Given the description of an element on the screen output the (x, y) to click on. 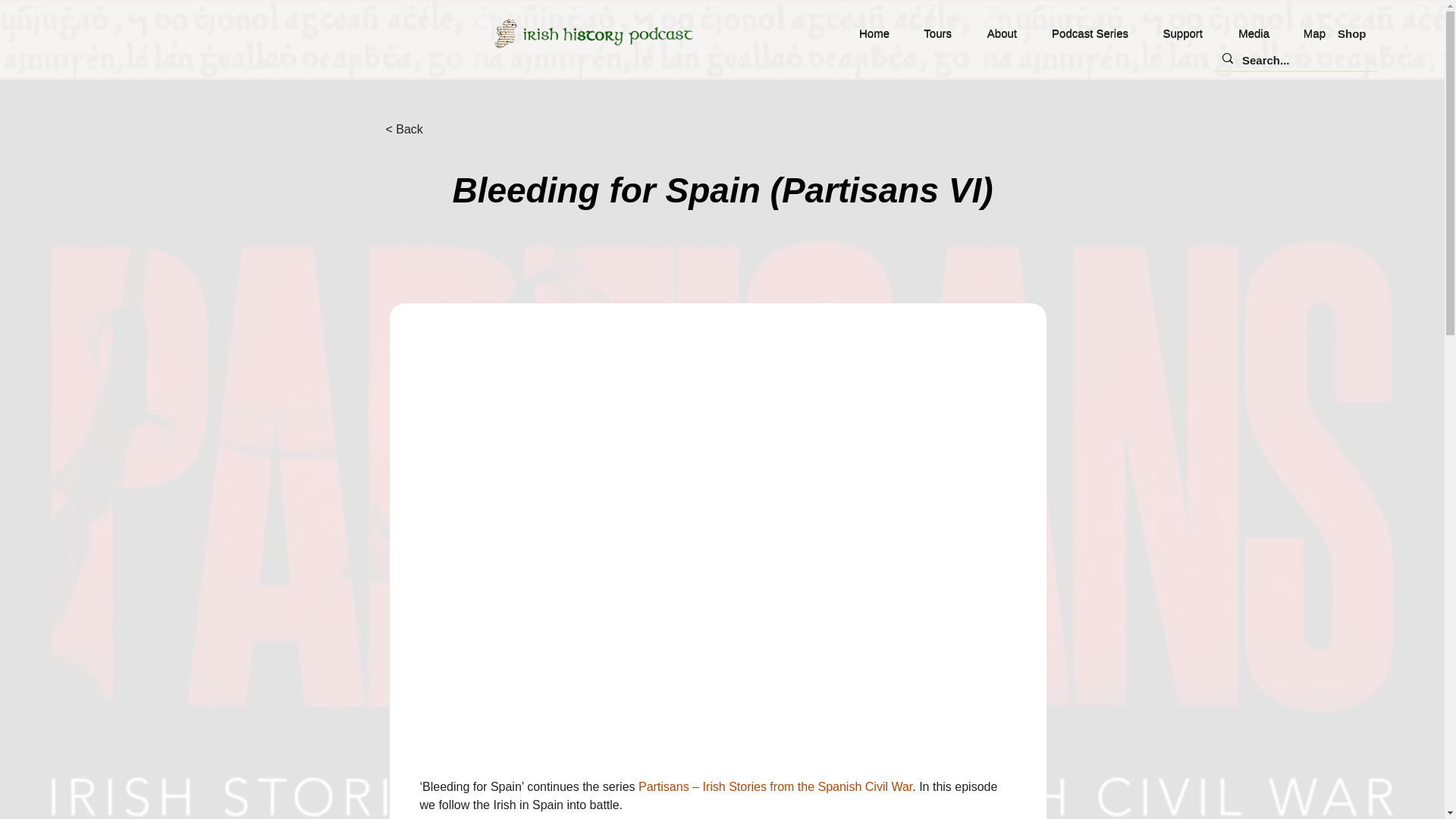
Podcast Series (1083, 33)
About (994, 33)
Support (1177, 33)
Tours (931, 33)
Shop (1352, 33)
Home (868, 33)
About (994, 33)
Podcast Series (1083, 33)
Home (868, 33)
Media (1247, 33)
Map (1308, 33)
Map (1308, 33)
Media (1247, 33)
Tours (931, 33)
Support (1177, 33)
